Given the description of an element on the screen output the (x, y) to click on. 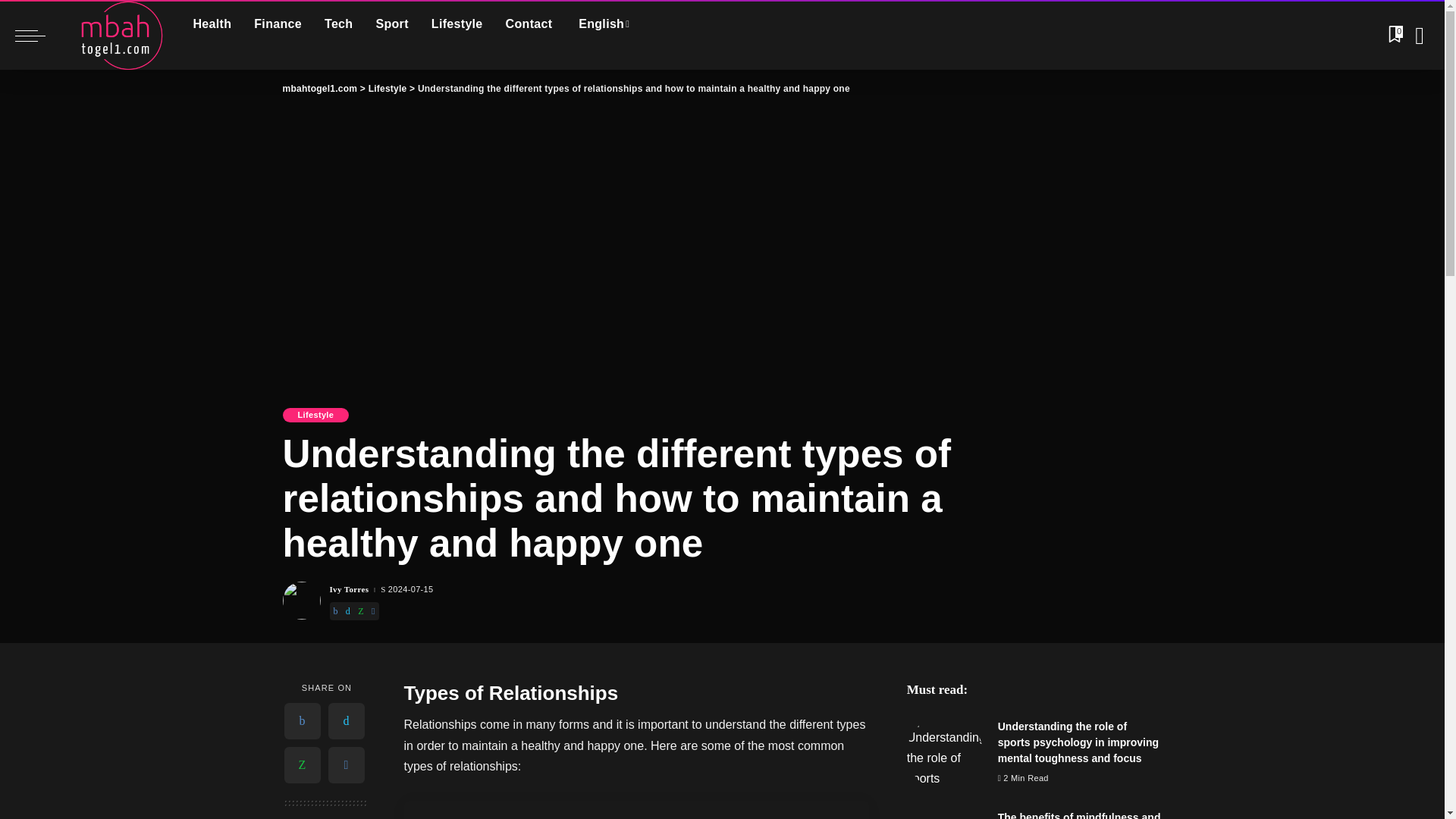
English (601, 23)
Health (211, 23)
mbahtogel1.com (115, 35)
